Given the description of an element on the screen output the (x, y) to click on. 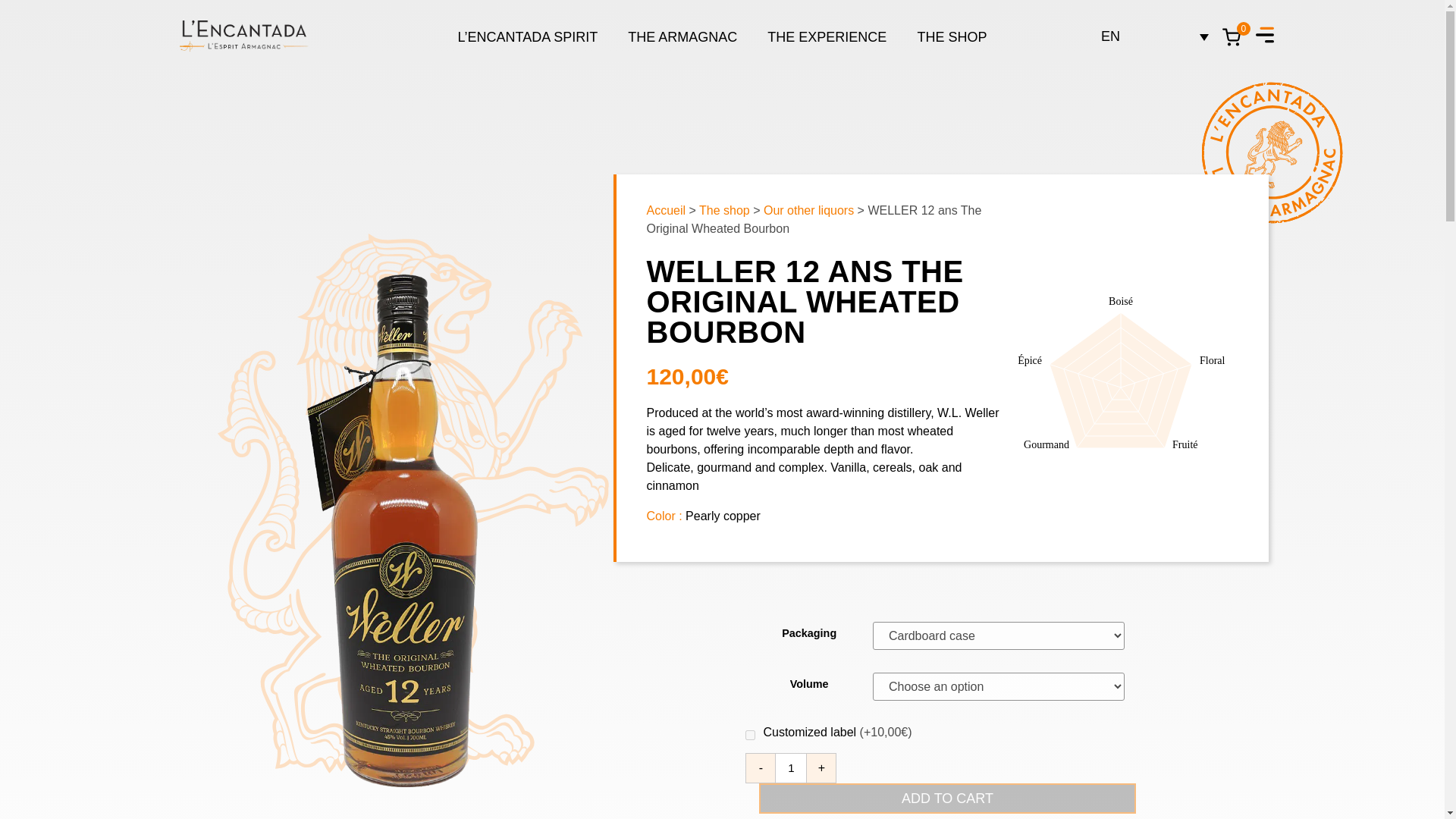
EN (1154, 35)
ADD TO CART (946, 798)
The shop (723, 210)
Qty (791, 767)
THE SHOP (951, 37)
Accueil (665, 210)
0 (1236, 37)
Our other liquors (807, 210)
- (760, 767)
uo59m (750, 735)
THE ARMAGNAC (682, 37)
View your shopping cart (1236, 37)
THE EXPERIENCE (826, 37)
1 (791, 767)
